Given the description of an element on the screen output the (x, y) to click on. 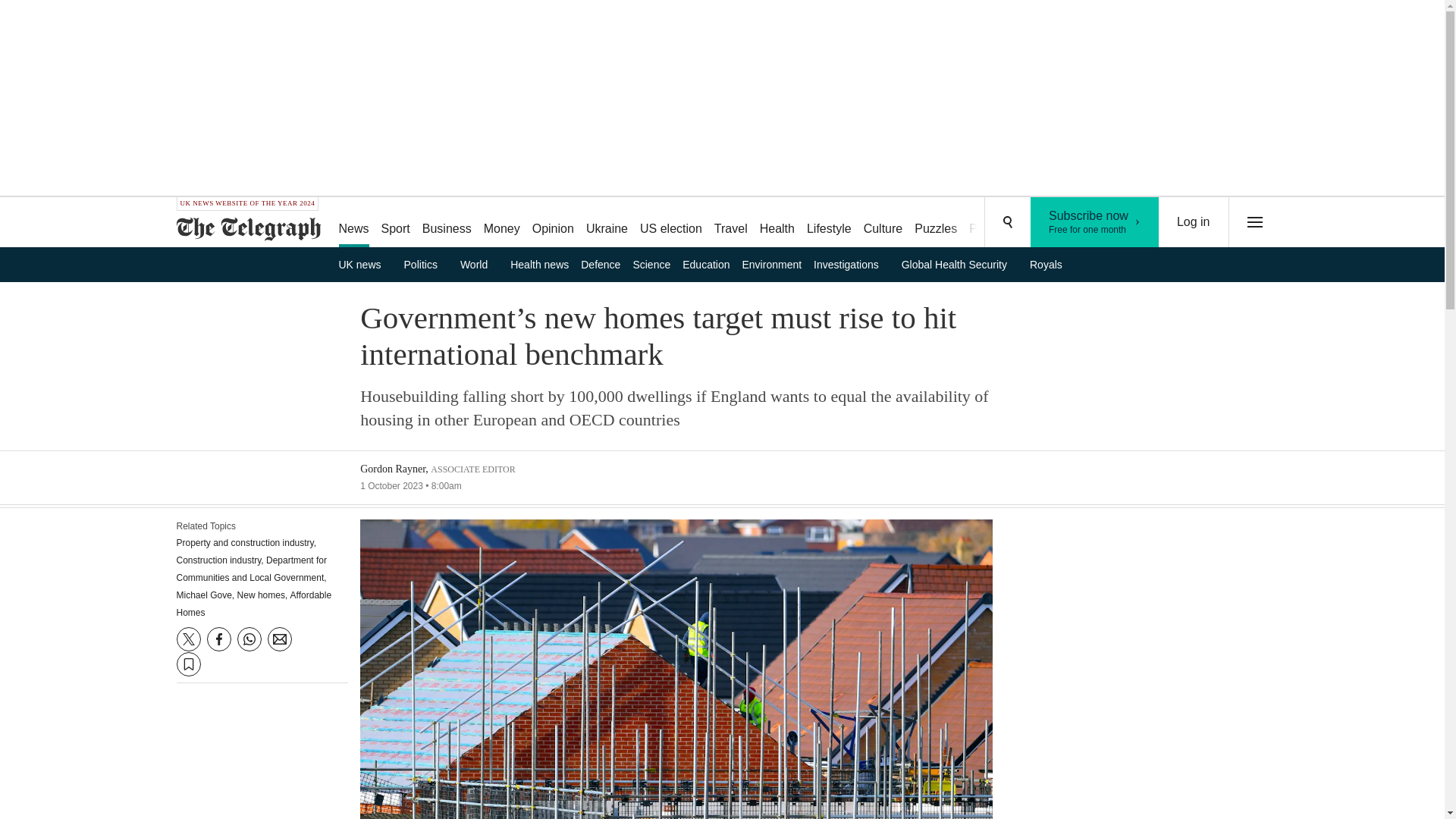
Opinion (552, 223)
Travel (730, 223)
Culture (882, 223)
World (478, 264)
US election (670, 223)
Business (446, 223)
Ukraine (606, 223)
Politics (425, 264)
Podcasts (993, 223)
Puzzles (935, 223)
